Given the description of an element on the screen output the (x, y) to click on. 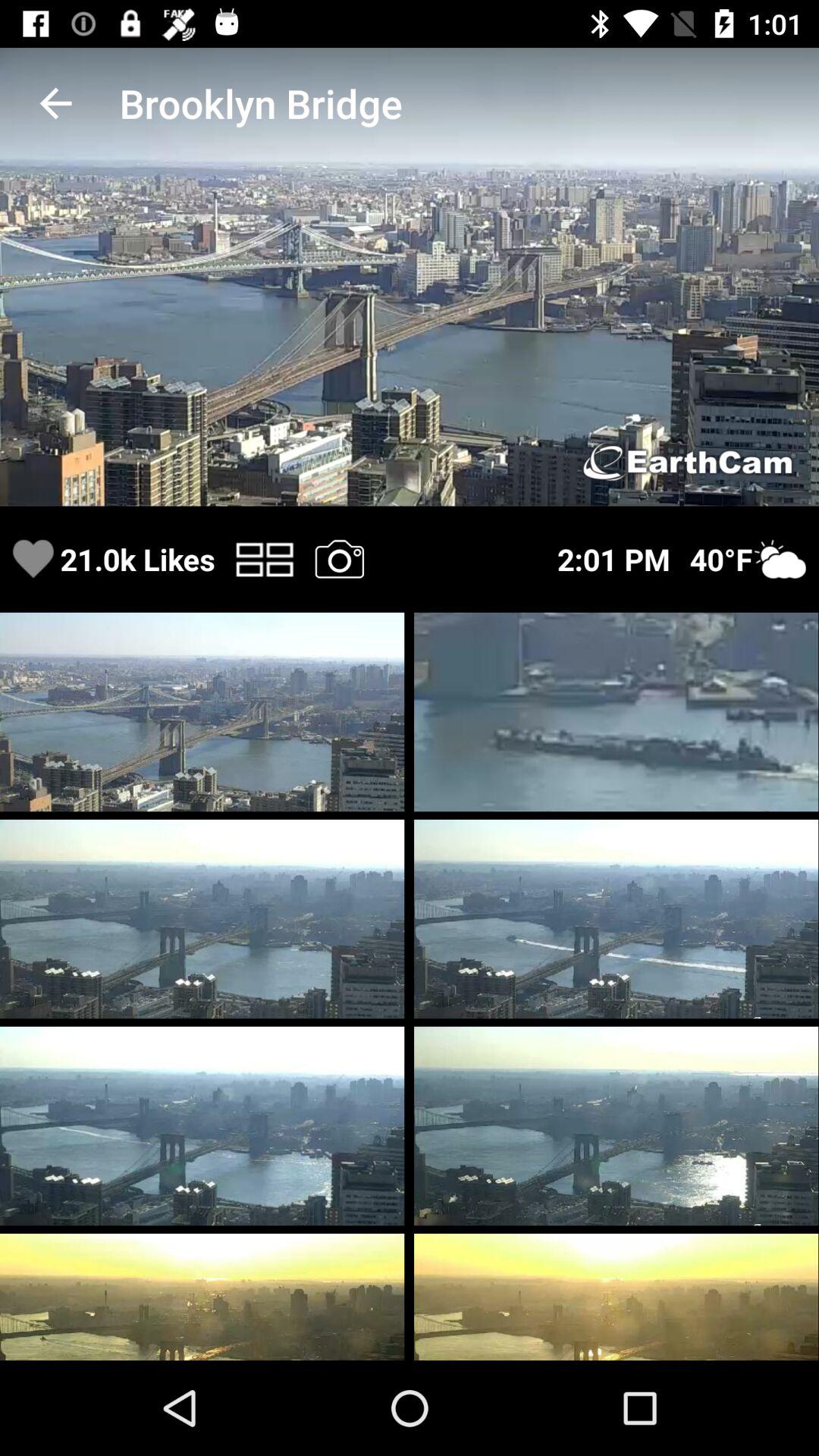
view photos (339, 558)
